Given the description of an element on the screen output the (x, y) to click on. 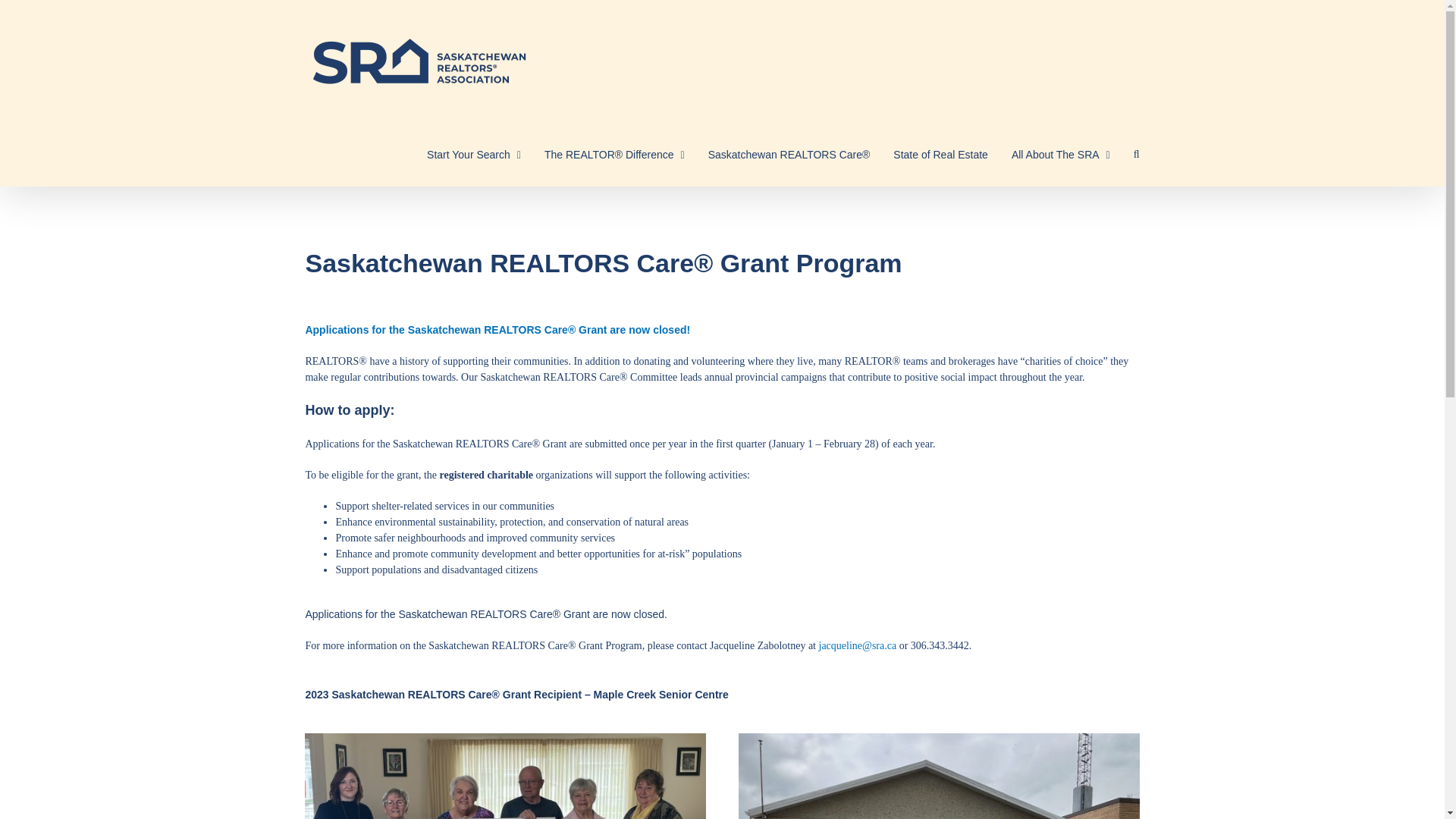
All About The SRA (1060, 154)
Start Your Search (473, 154)
State of Real Estate (940, 154)
Image 20240521 201112 9fbf6252 (938, 776)
Image 20240521 191001 D6edb8a4 (504, 776)
